Given the description of an element on the screen output the (x, y) to click on. 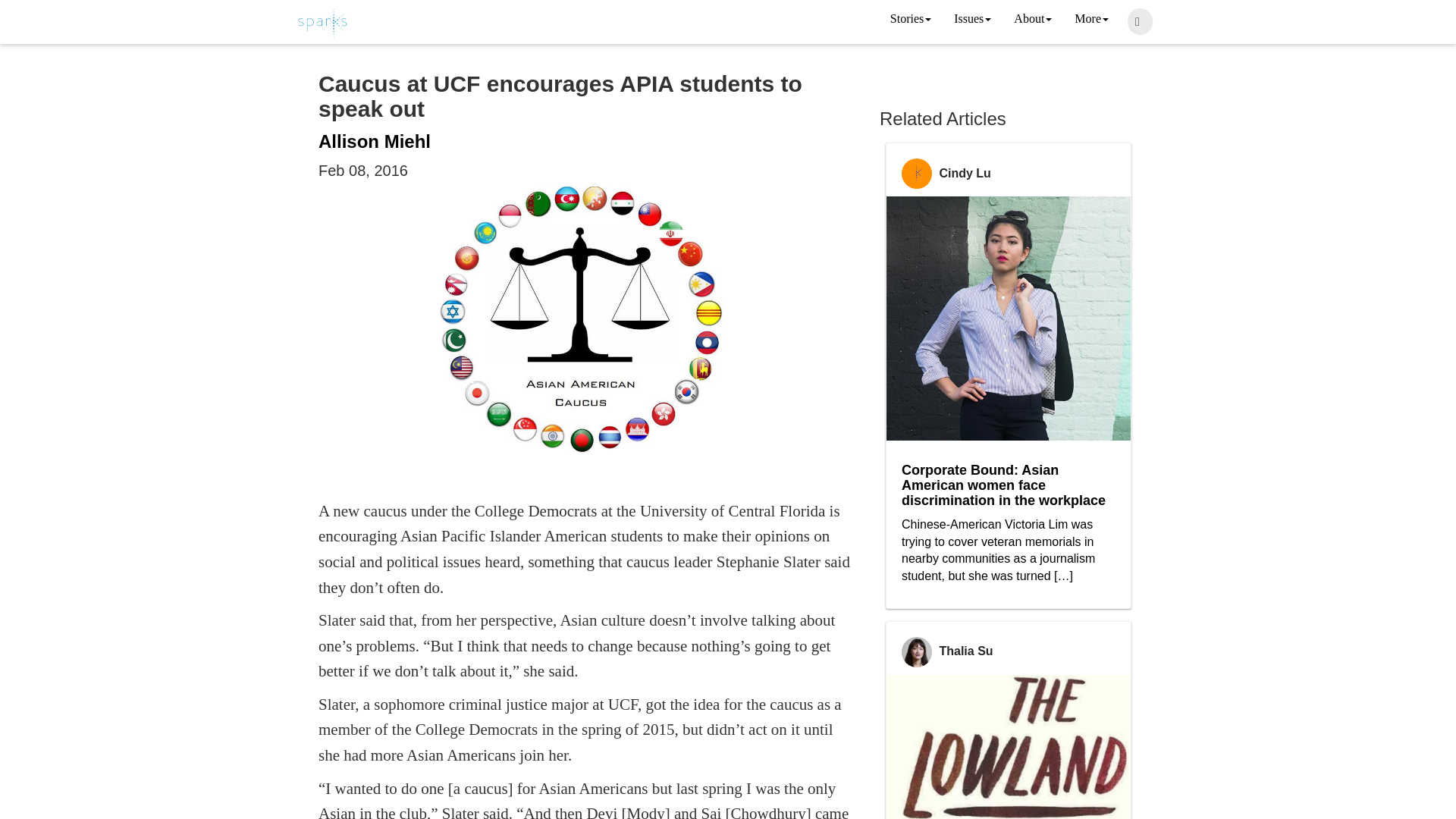
Allison Miehl (374, 141)
More (1090, 19)
Thalia Su (965, 650)
Stories (910, 19)
About (1032, 19)
Cindy Lu (964, 173)
Issues (972, 19)
